Given the description of an element on the screen output the (x, y) to click on. 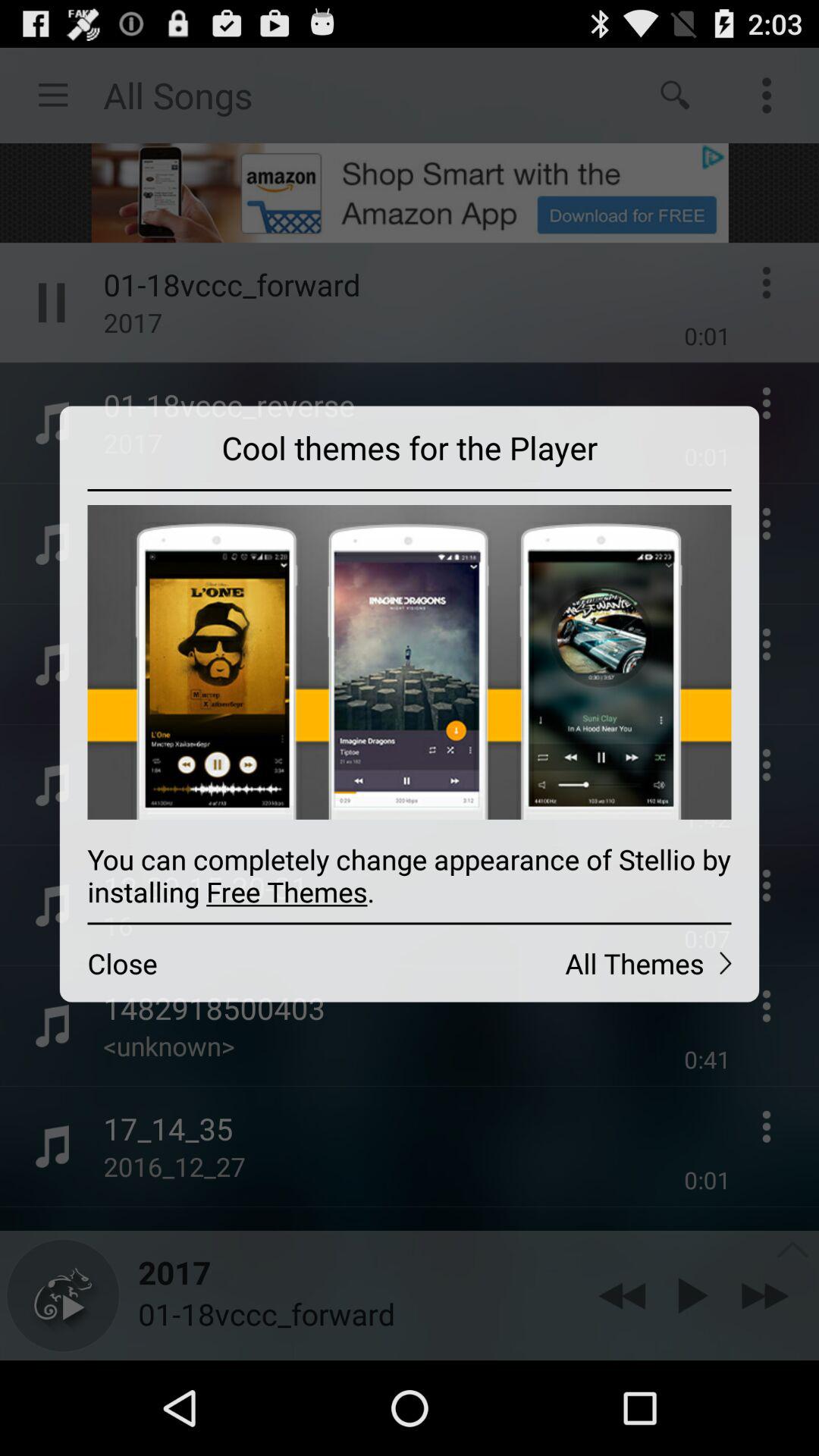
select the icon to the right of close icon (584, 963)
